Given the description of an element on the screen output the (x, y) to click on. 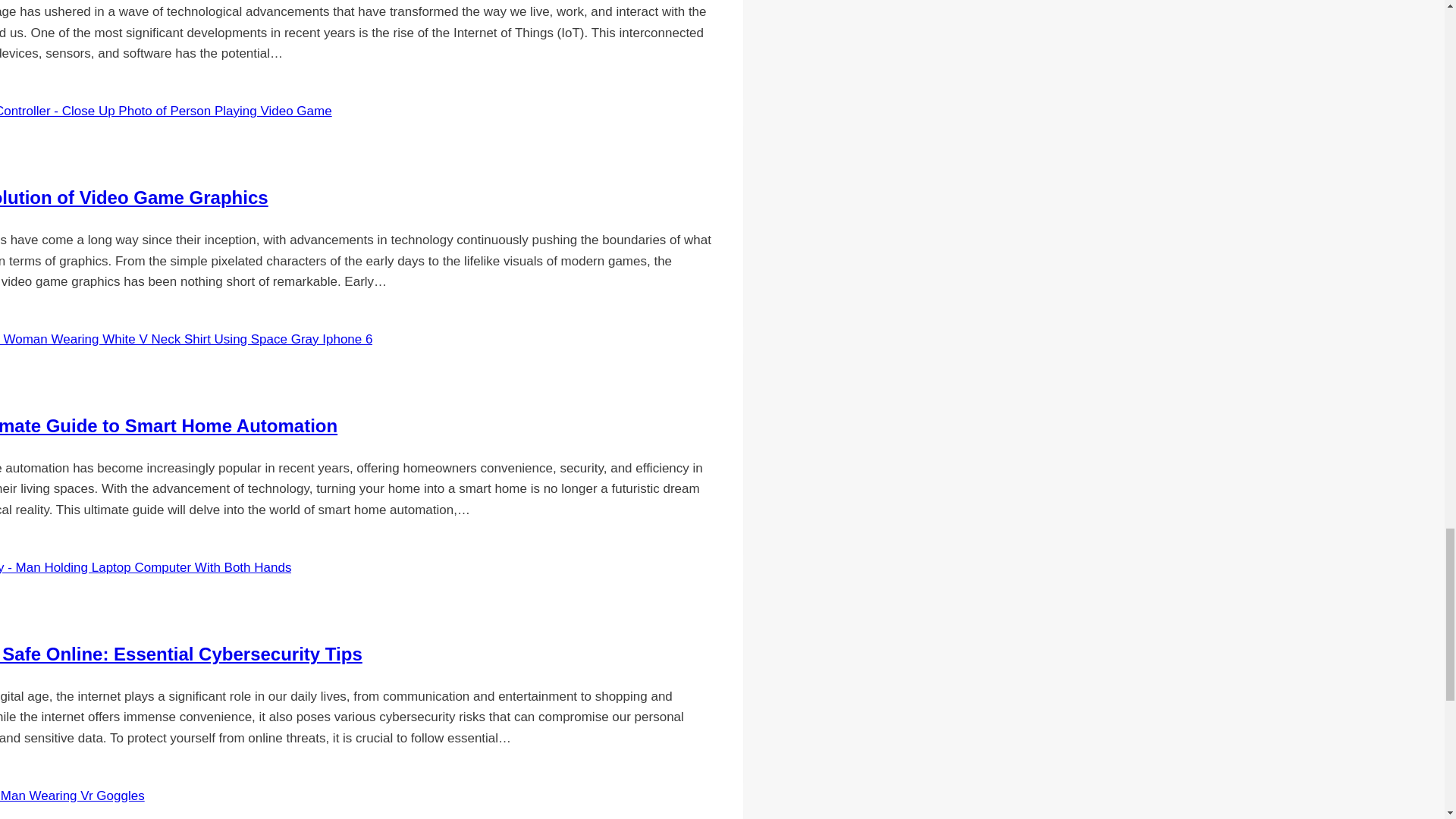
The Ultimate Guide to Smart Home Automation (168, 425)
Staying Safe Online: Essential Cybersecurity Tips (181, 653)
The Evolution of Video Game Graphics (133, 197)
